Given the description of an element on the screen output the (x, y) to click on. 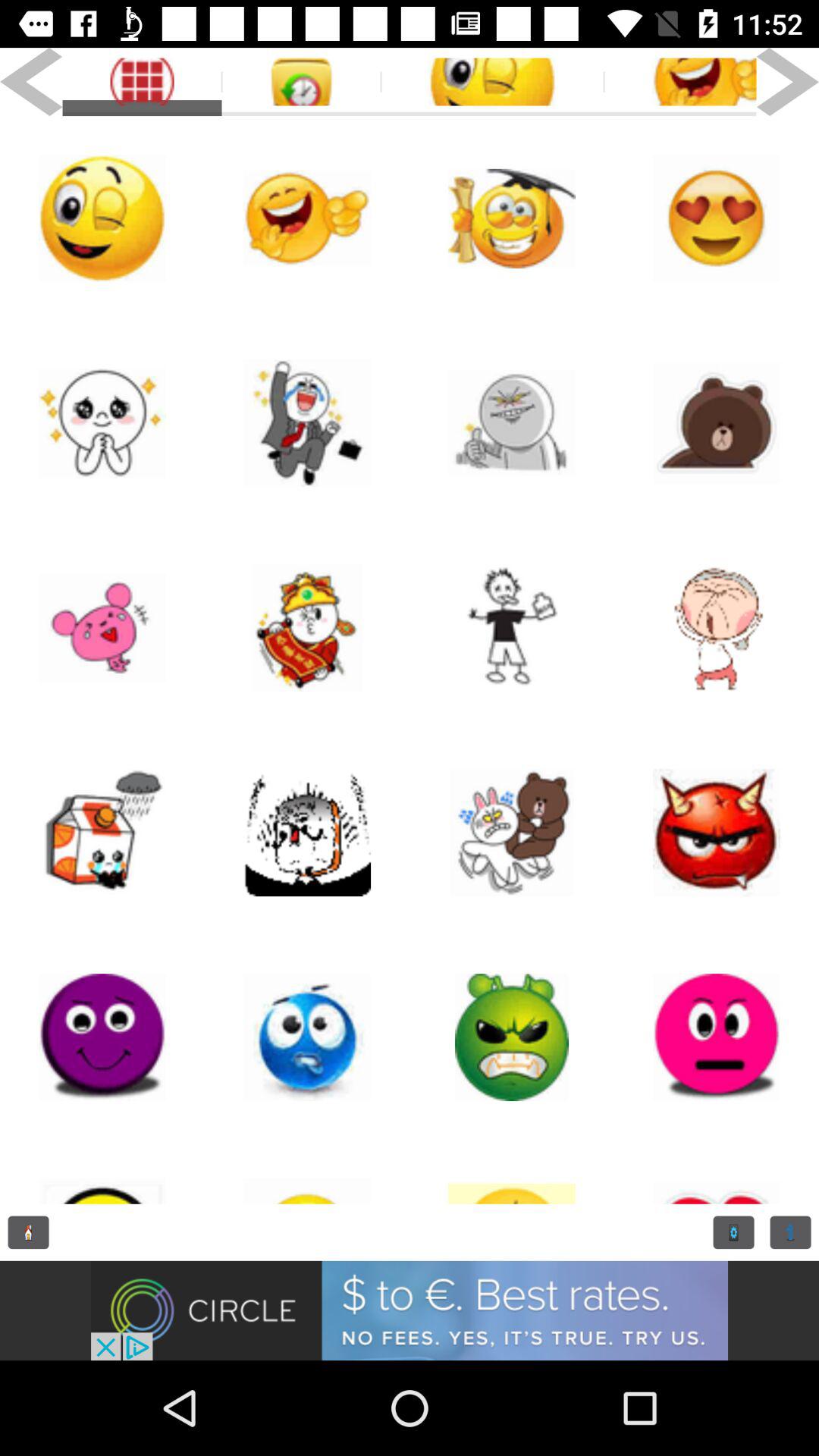
funny simbol (492, 81)
